Given the description of an element on the screen output the (x, y) to click on. 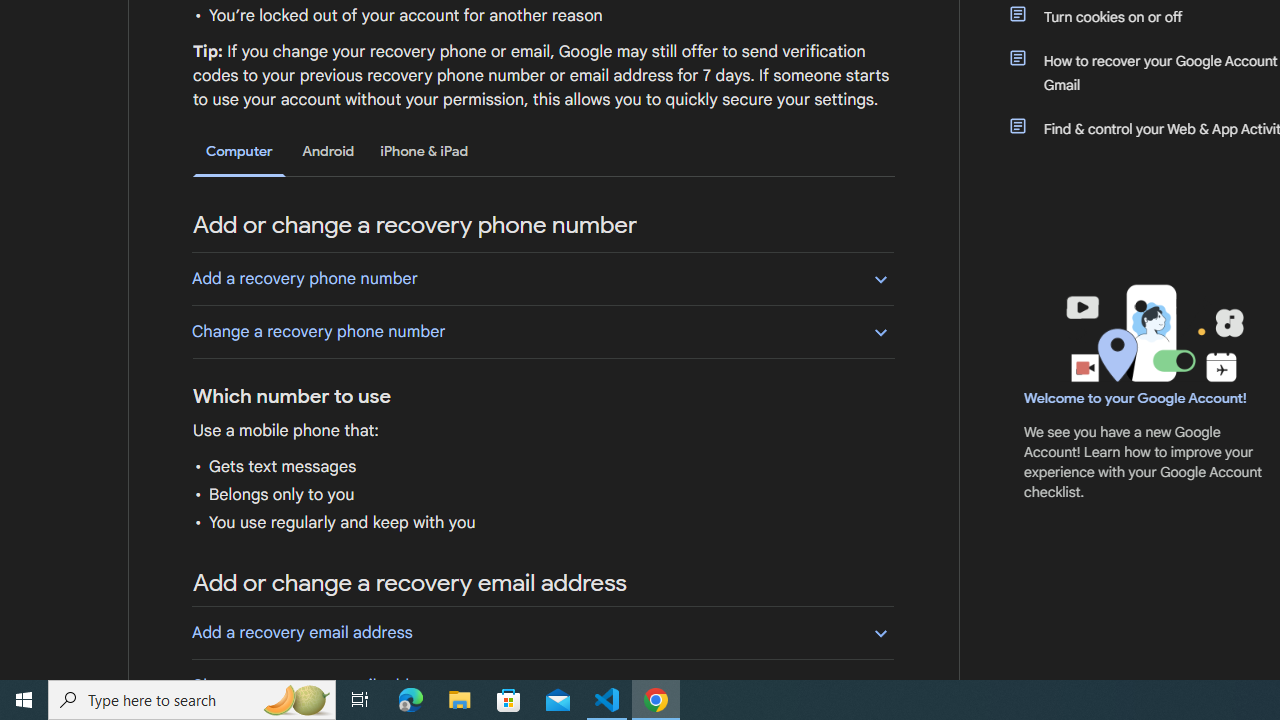
Android (328, 151)
Welcome to your Google Account! (1135, 397)
Change a recovery email address (542, 685)
Add a recovery phone number (542, 278)
iPhone & iPad (424, 151)
Learning Center home page image (1152, 333)
Change a recovery phone number (542, 331)
Add a recovery email address (542, 632)
Computer (239, 152)
